Given the description of an element on the screen output the (x, y) to click on. 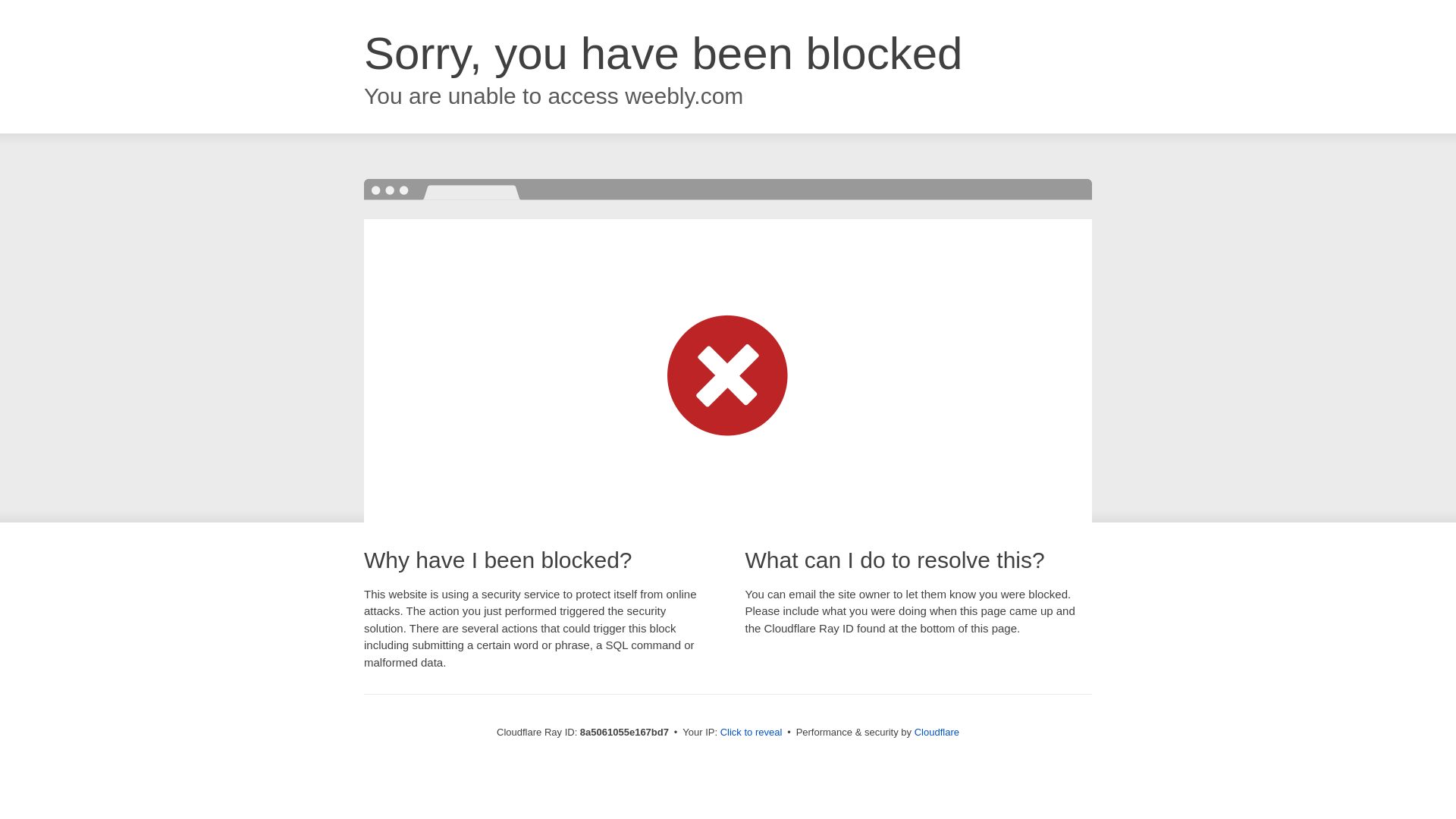
Cloudflare (936, 731)
Click to reveal (751, 732)
